Given the description of an element on the screen output the (x, y) to click on. 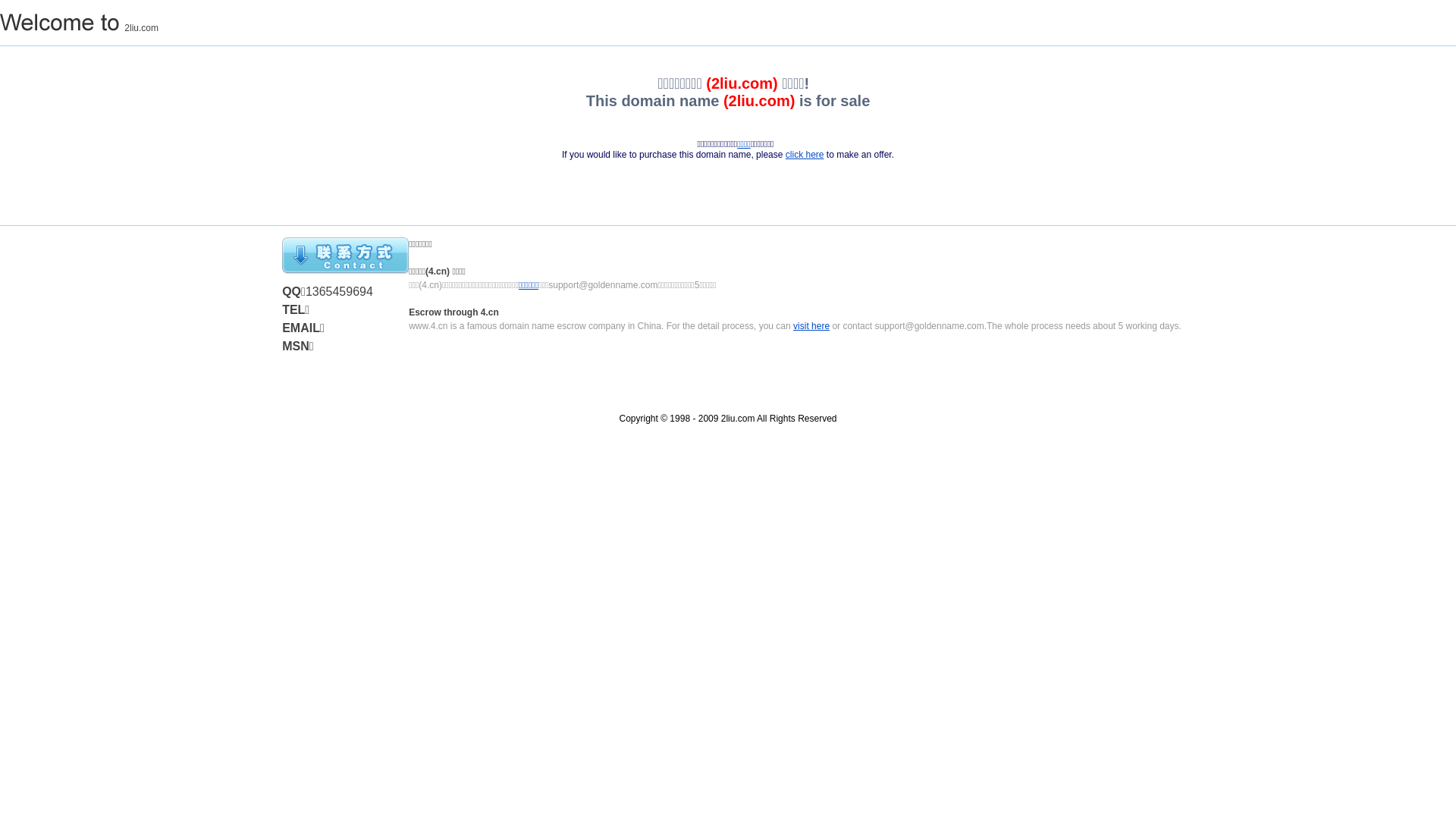
visit here Element type: text (811, 325)
click here Element type: text (804, 154)
